Given the description of an element on the screen output the (x, y) to click on. 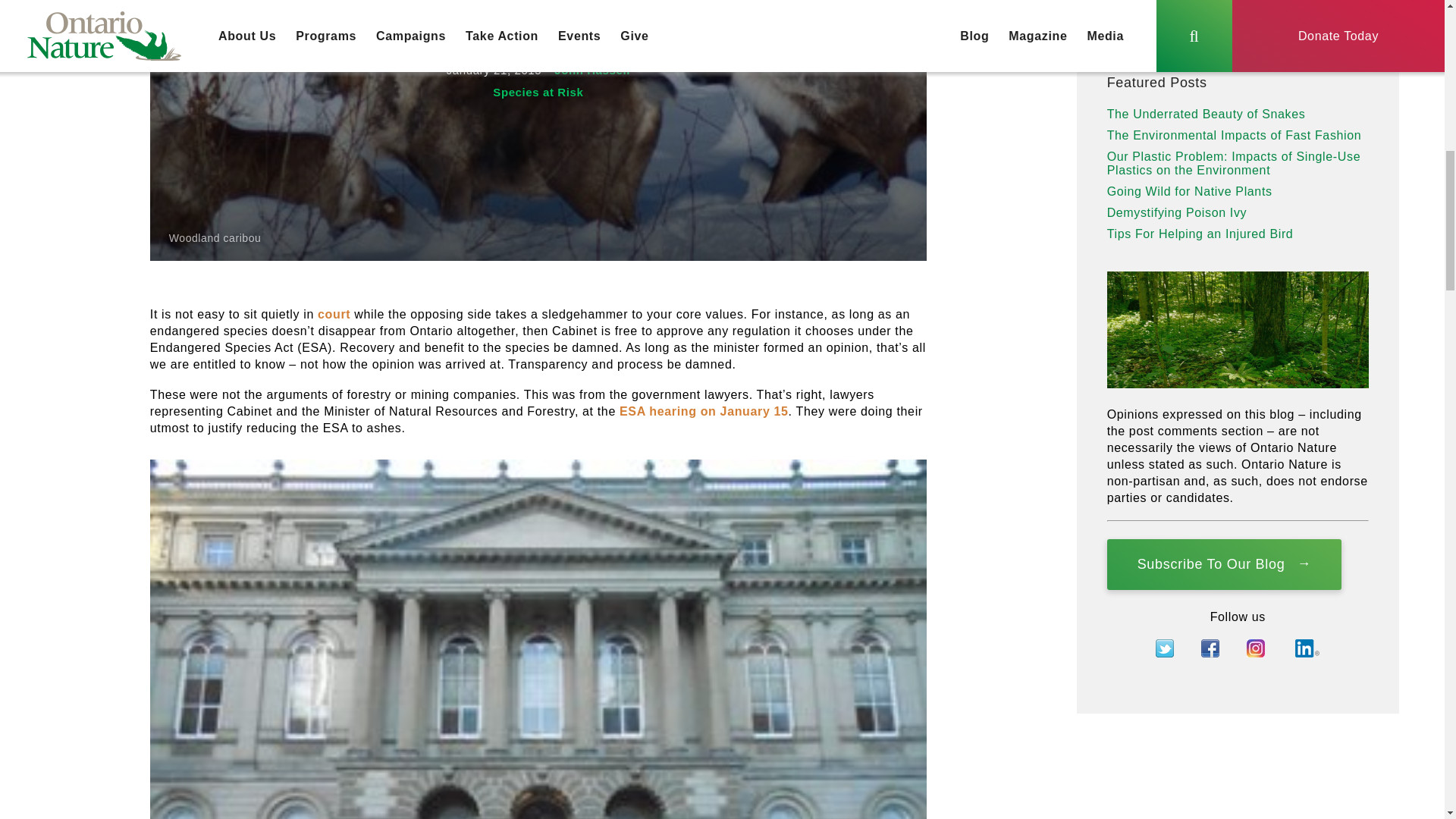
Category: Species at Risk (538, 91)
Signup to receive blog update notifications (1224, 563)
Authored by: John Hassell (592, 69)
Select a category (1218, 27)
View blog posts (1349, 27)
